Given the description of an element on the screen output the (x, y) to click on. 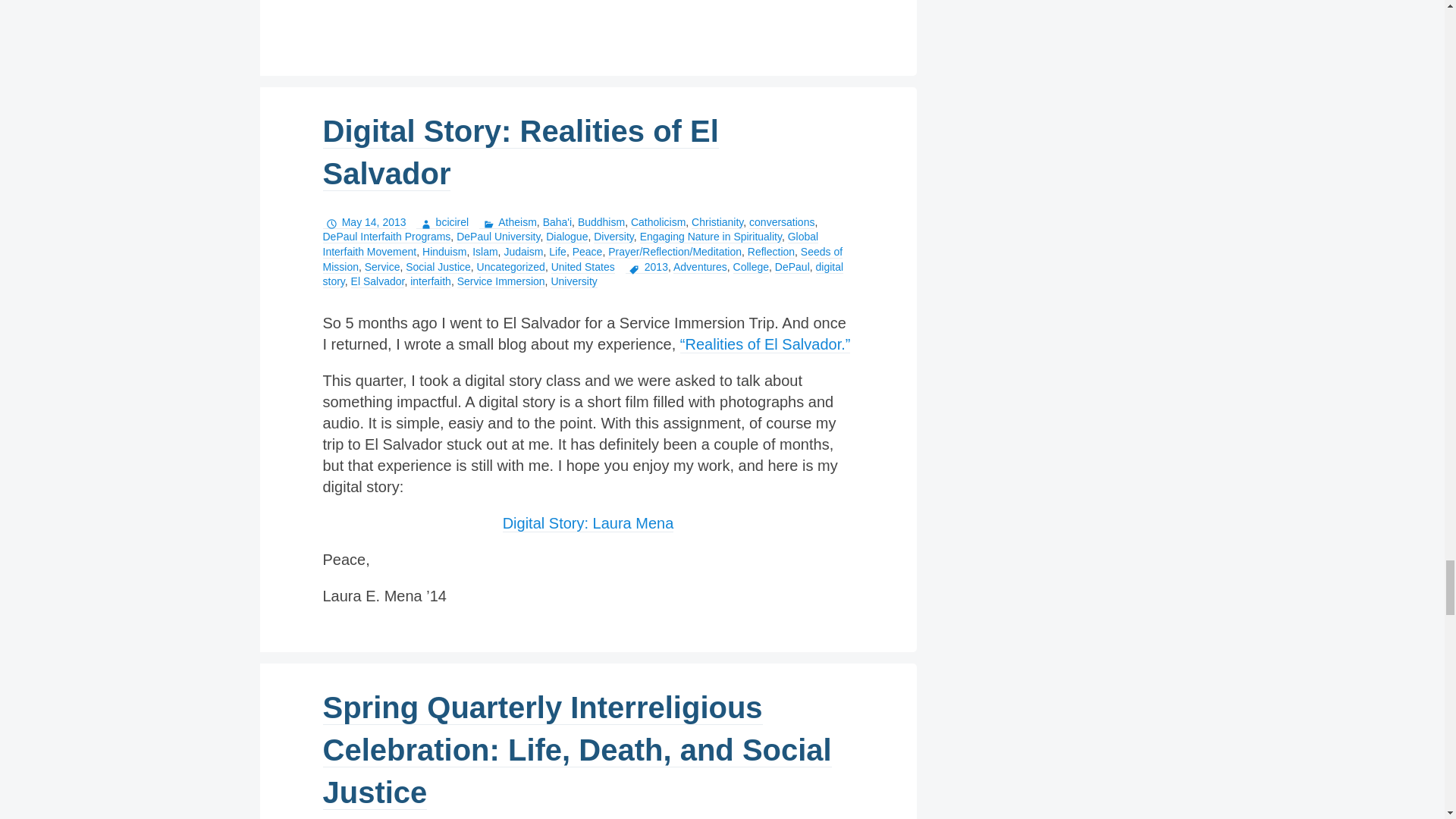
Realities of El Salvador: Laura Mena (588, 523)
